Given the description of an element on the screen output the (x, y) to click on. 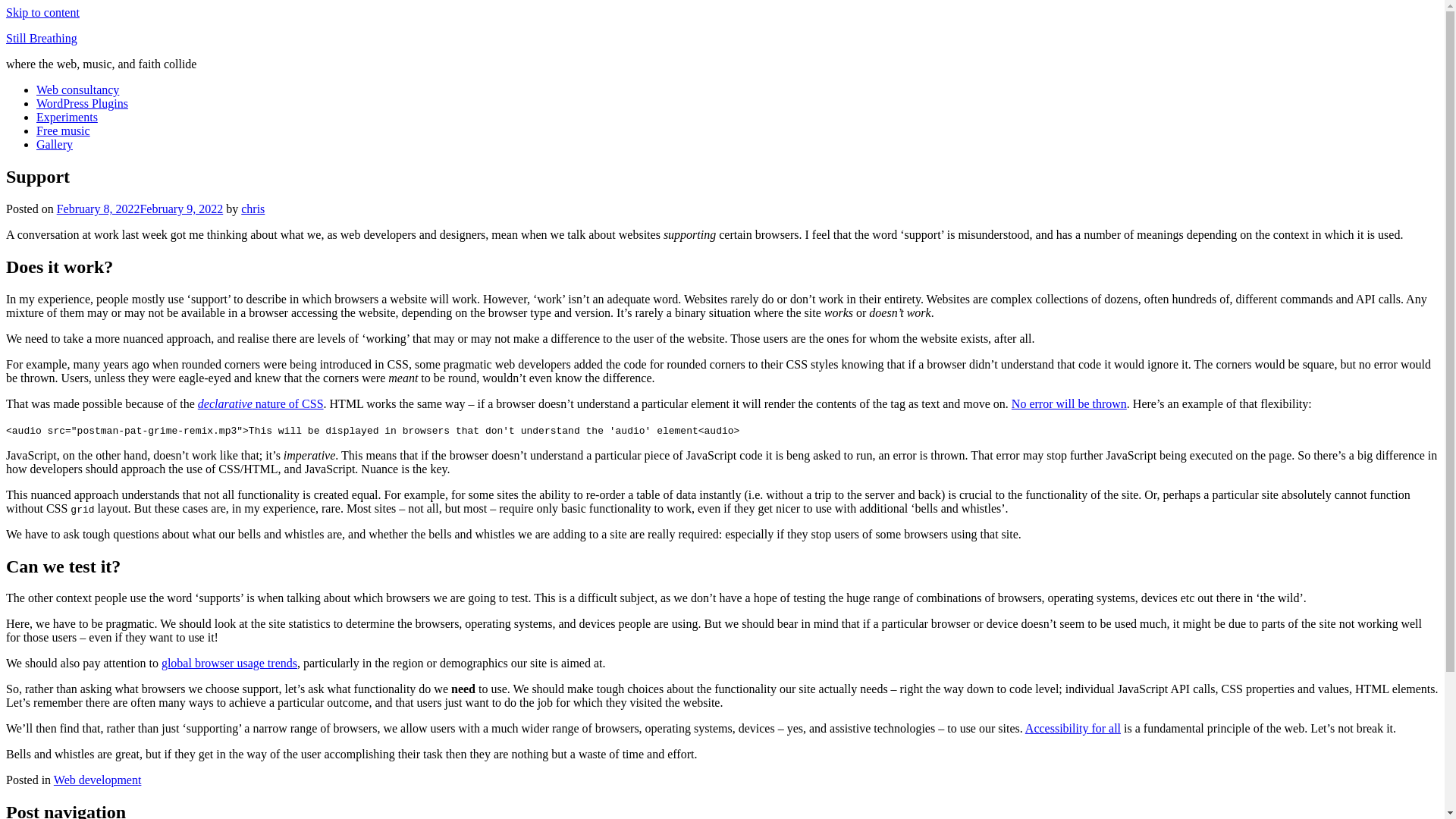
Accessibility for all (1073, 727)
declarative nature of CSS (260, 403)
Web development (97, 779)
No error will be thrown (1068, 403)
chris (252, 208)
February 8, 2022February 9, 2022 (140, 208)
Skip to content (42, 11)
Gallery (54, 144)
Experiments (66, 116)
Free music (63, 130)
WordPress Plugins (82, 103)
Web consultancy (77, 89)
Still Breathing (41, 38)
global browser usage trends (229, 662)
